Given the description of an element on the screen output the (x, y) to click on. 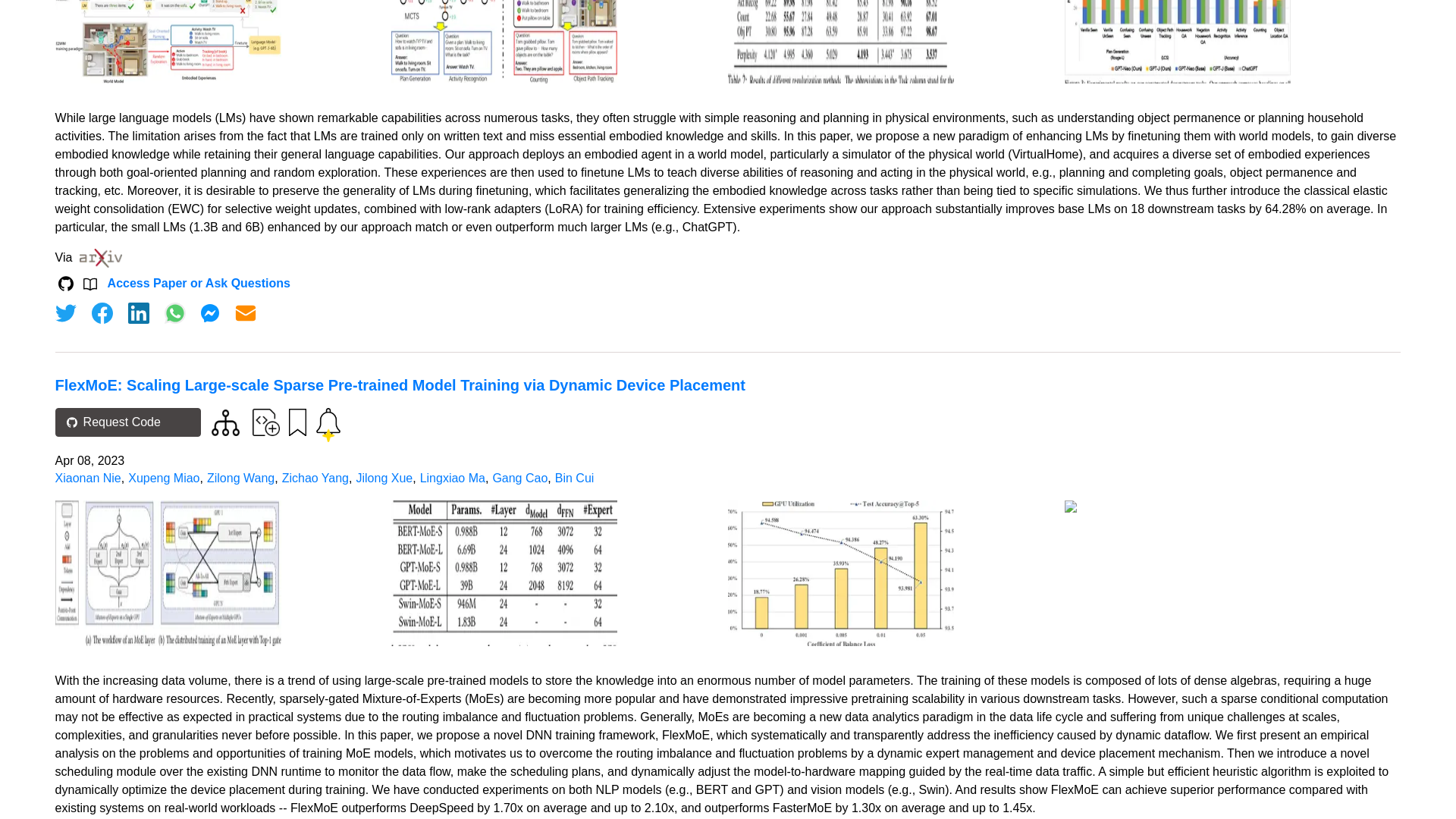
Contribute your code for this paper to the community (265, 421)
Share via Email (245, 313)
View code for similar papers (225, 422)
